Given the description of an element on the screen output the (x, y) to click on. 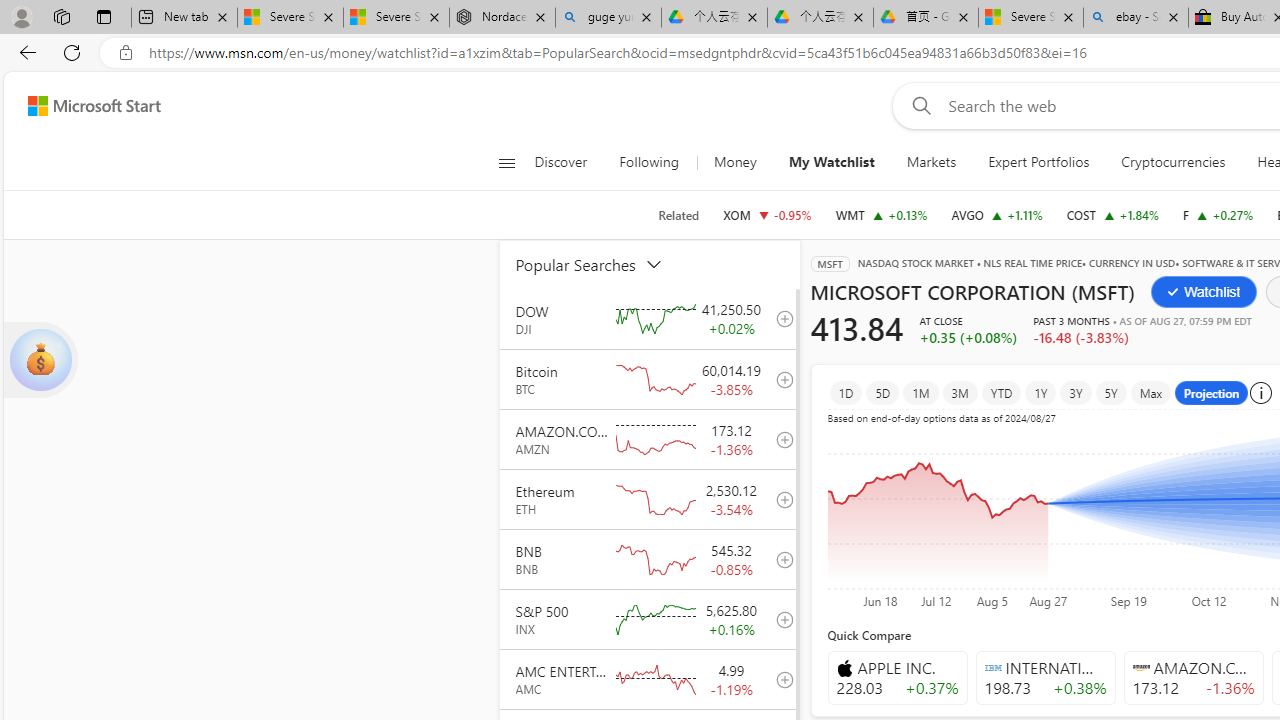
Money (735, 162)
Following (648, 162)
